Given the description of an element on the screen output the (x, y) to click on. 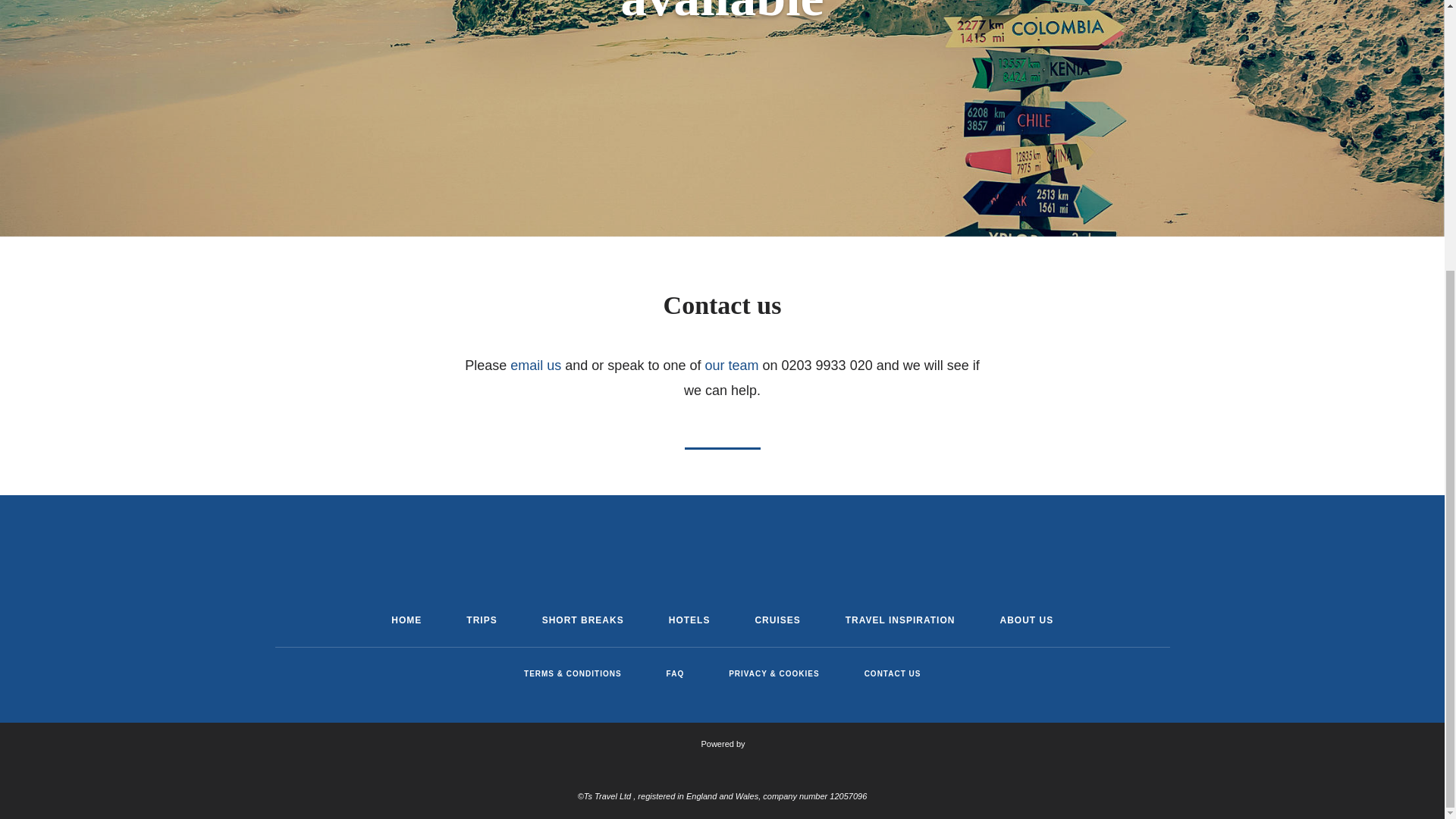
CRUISES (776, 620)
email us (535, 365)
HOTELS (689, 620)
ABOUT US (1025, 620)
FAQ (675, 673)
TRAVEL INSPIRATION (900, 620)
TRIPS (480, 620)
CONTACT US (892, 673)
SHORT BREAKS (582, 620)
HOME (406, 620)
